Given the description of an element on the screen output the (x, y) to click on. 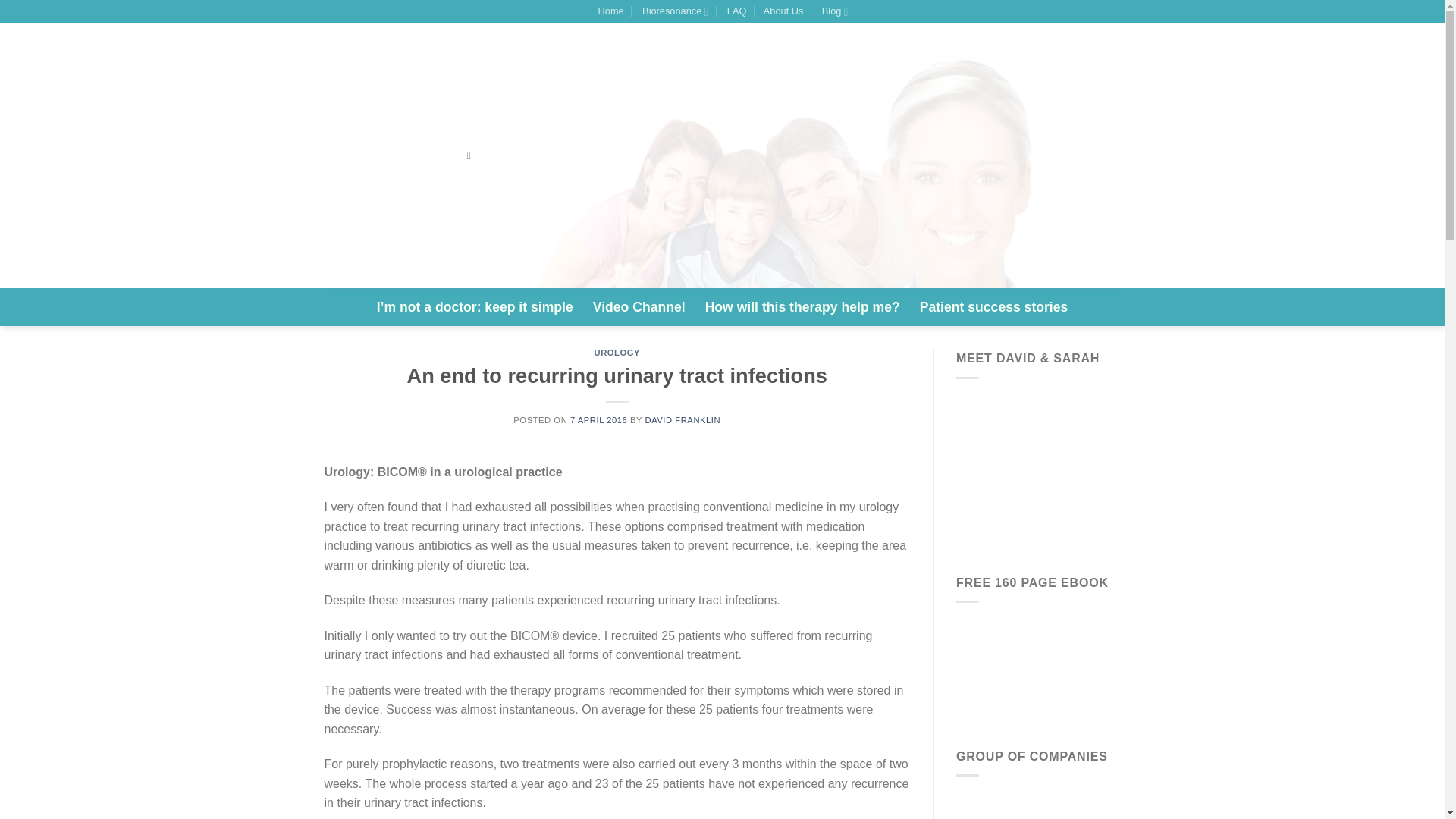
DAVID FRANKLIN (682, 420)
Blog (834, 11)
7 APRIL 2016 (598, 420)
About Us (782, 11)
UROLOGY (617, 352)
Video Channel (638, 306)
How will this therapy help me? (801, 306)
Patient success stories (994, 306)
FAQ (735, 11)
Home (610, 11)
Bioresonance (673, 11)
